Given the description of an element on the screen output the (x, y) to click on. 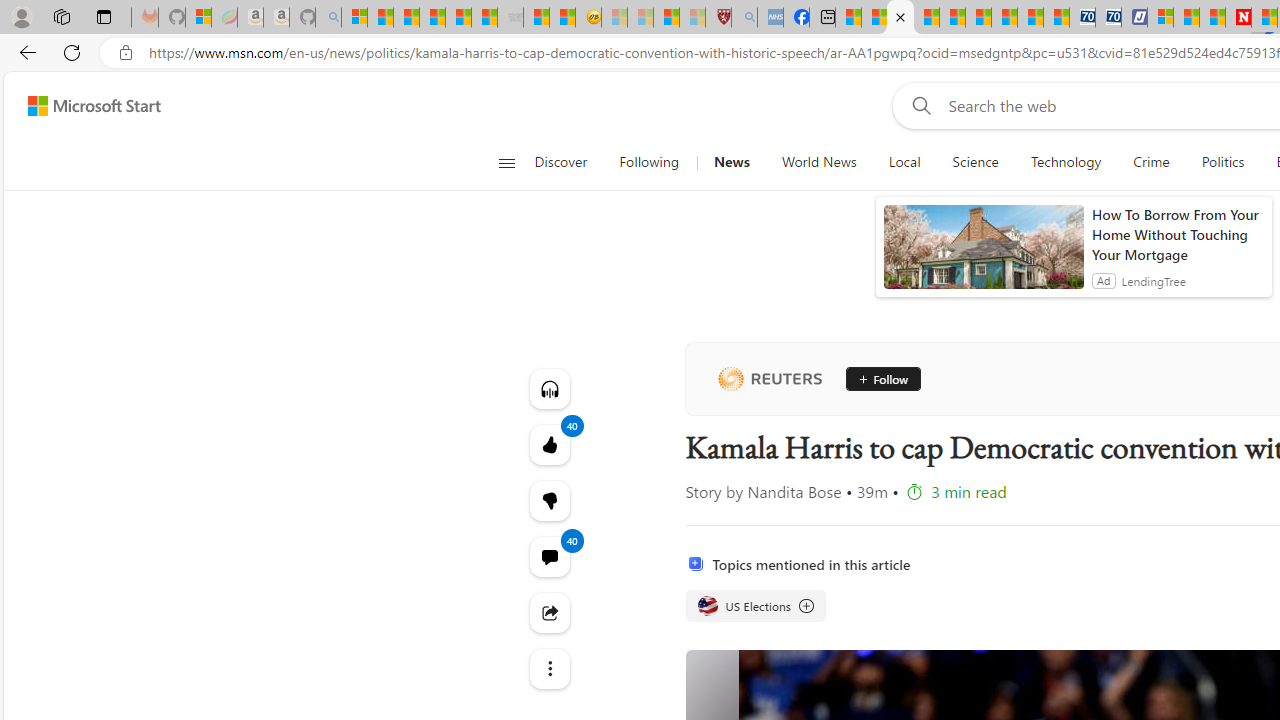
Technology (1066, 162)
Web search (917, 105)
anim-content (983, 255)
Reuters (769, 378)
